Given the description of an element on the screen output the (x, y) to click on. 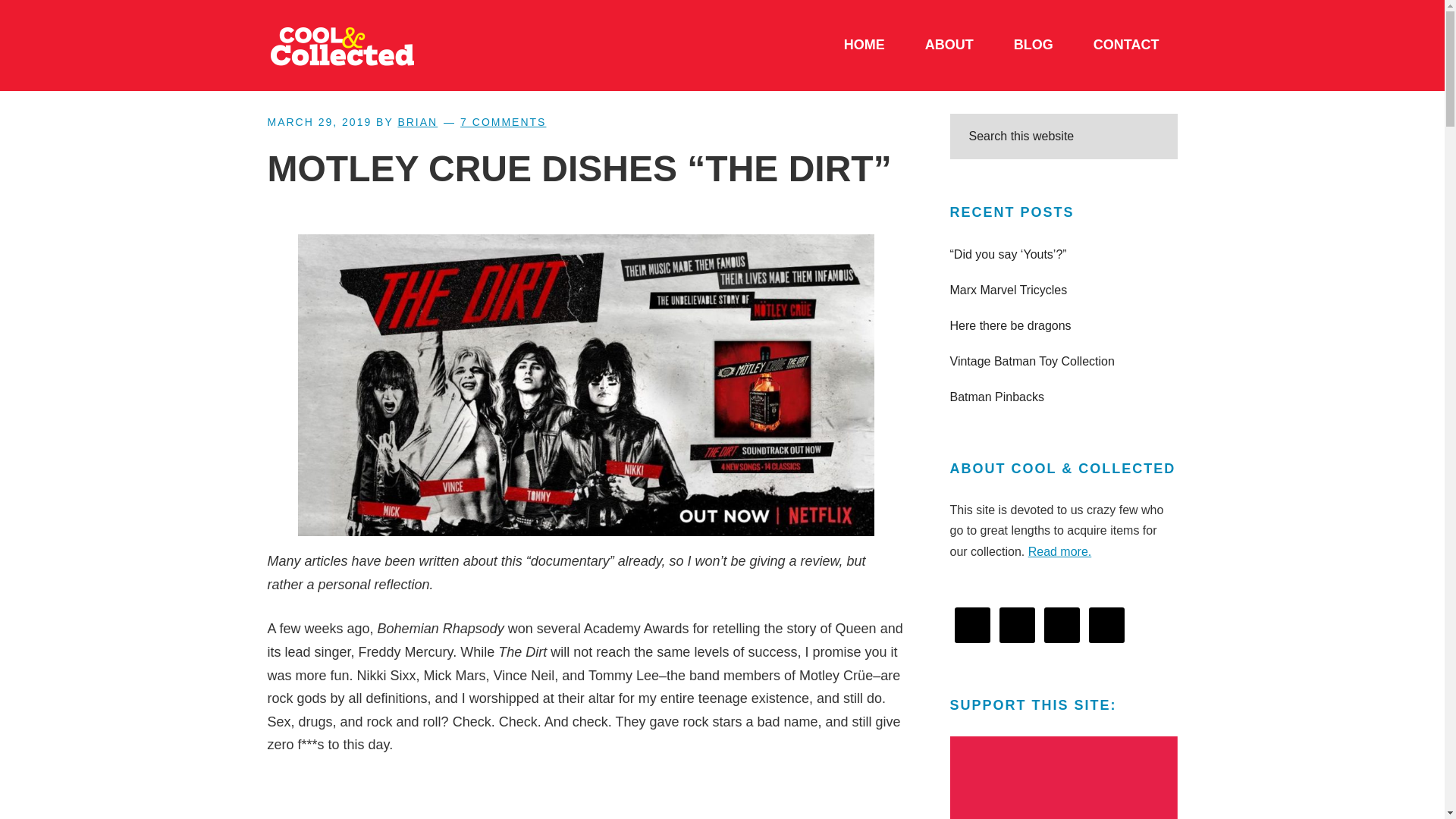
BRIAN (417, 121)
7 COMMENTS (503, 121)
ABOUT (949, 44)
Read more. (1059, 550)
Vintage Batman Toy Collection (1031, 360)
Marx Marvel Tricycles (1008, 289)
Batman Pinbacks (996, 396)
HOME (864, 44)
Here there be dragons (1009, 325)
COOL AND COLLECTED (380, 44)
CONTACT (1125, 44)
